Given the description of an element on the screen output the (x, y) to click on. 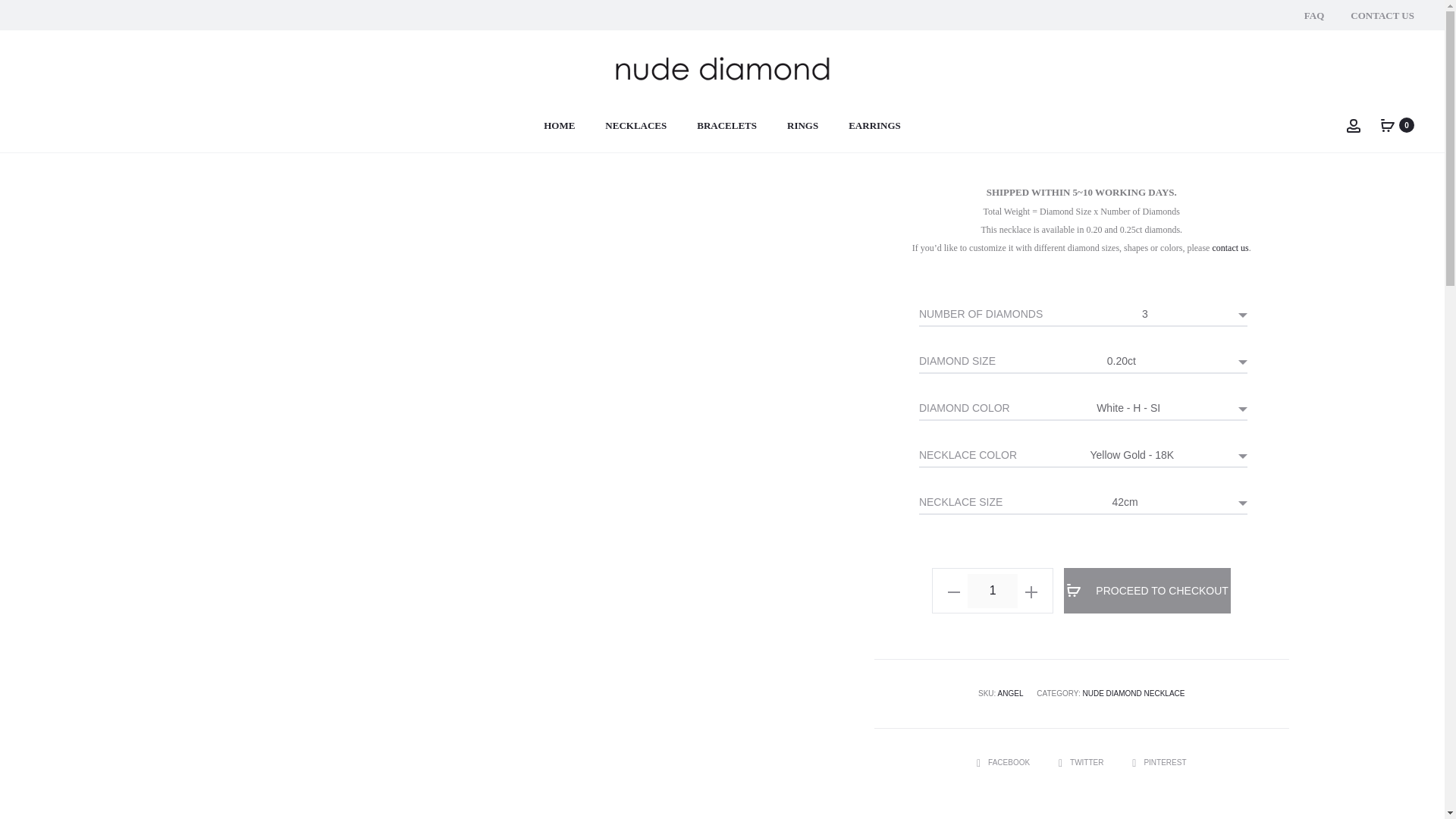
Home (41, 56)
1 (992, 590)
0 (1387, 124)
EARRINGS (874, 125)
Shop (77, 56)
NECKLACES (635, 125)
OPERA (1398, 57)
NUDE DIAMOND NECKLACE (1133, 693)
PROCEED TO CHECKOUT (1147, 590)
HOME (559, 125)
